Given the description of an element on the screen output the (x, y) to click on. 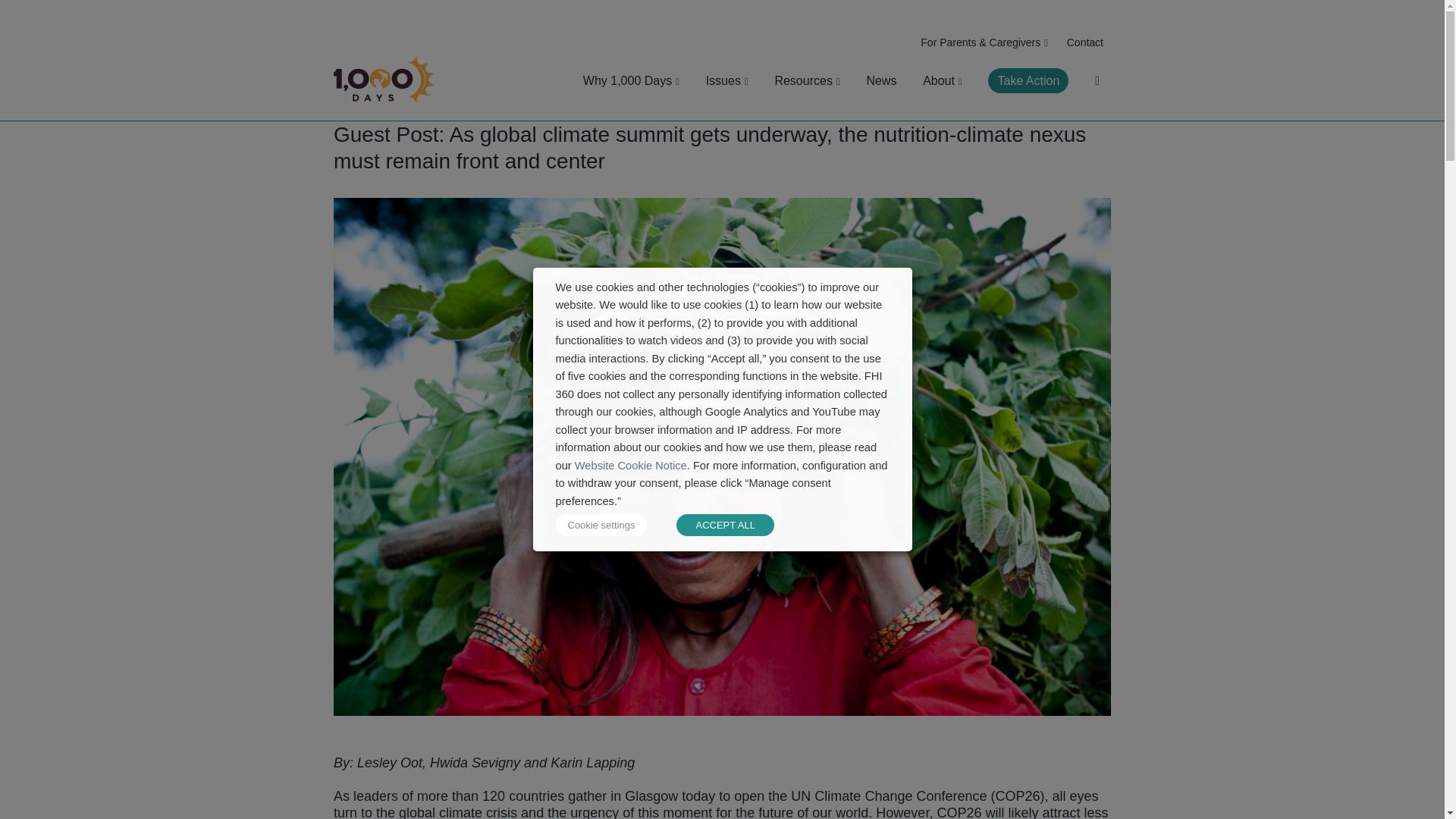
1,000 Days (384, 119)
Why 1,000 Days (631, 80)
Contact (1085, 42)
